Given the description of an element on the screen output the (x, y) to click on. 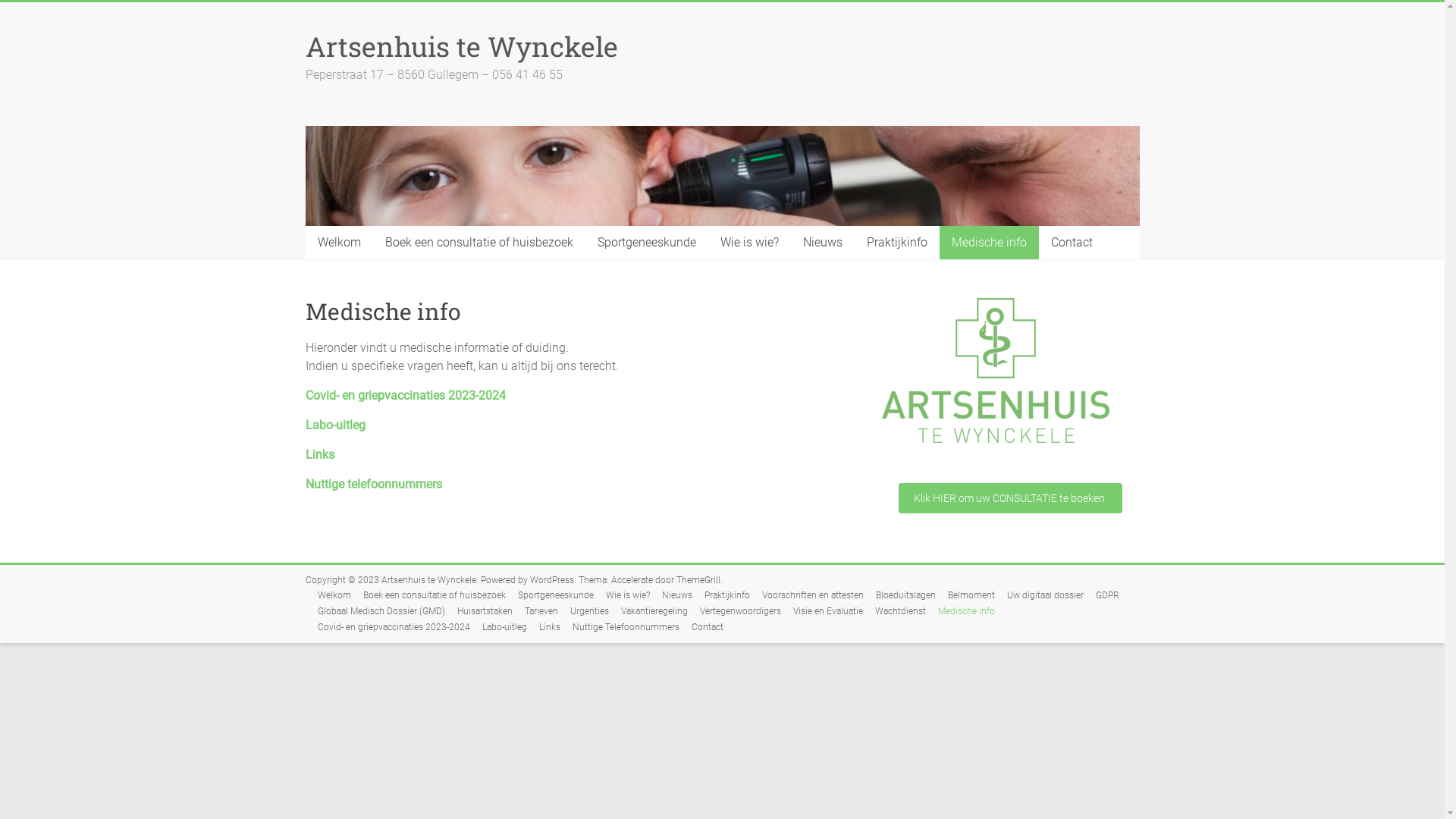
Nieuws Element type: text (821, 242)
Wachtdienst Element type: text (893, 611)
Klik HIER om uw CONSULTATIE te boeken. Element type: text (1010, 497)
Nuttige telefoonnummers Element type: text (372, 483)
WordPress Element type: text (551, 579)
Bloeduitslagen Element type: text (898, 595)
Boek een consultatie of huisbezoek Element type: text (479, 242)
Welkom Element type: text (327, 595)
Nieuws Element type: text (670, 595)
Welkom Element type: text (338, 242)
Wie is wie? Element type: text (749, 242)
Sportgeneeskunde Element type: text (646, 242)
ThemeGrill Element type: text (698, 579)
Artsenhuis te Wynckele Element type: text (427, 579)
Klik HIER om uw CONSULTATIE te boeken. Element type: text (1010, 498)
Urgenties Element type: text (583, 611)
Huisartstaken Element type: text (477, 611)
GDPR Element type: text (1100, 595)
Labo-uitleg Element type: text (334, 424)
Wie is wie? Element type: text (621, 595)
Vertegenwoordigers Element type: text (733, 611)
Contact Element type: text (1071, 242)
Medische info Element type: text (959, 611)
Links Element type: text (542, 627)
Globaal Medisch Dossier (GMD) Element type: text (374, 611)
Sportgeneeskunde Element type: text (549, 595)
Links Element type: text (318, 454)
Artsenhuis te Wynckele Element type: text (460, 46)
Uw digitaal dossier Element type: text (1038, 595)
Praktijkinfo Element type: text (720, 595)
Covid- en griepvaccinaties 2023-2024 Element type: text (386, 627)
Boek een consultatie of huisbezoek Element type: text (427, 595)
Medische info Element type: text (988, 242)
Covid- en griepvaccinaties 2023-2024 Element type: text (404, 395)
Contact Element type: text (701, 627)
Visie en Evaluatie Element type: text (821, 611)
Tarieven Element type: text (535, 611)
Praktijkinfo Element type: text (895, 242)
Labo-uitleg Element type: text (498, 627)
Voorschriften en attesten Element type: text (805, 595)
Belmoment Element type: text (964, 595)
Vakantieregeling Element type: text (647, 611)
Nuttige Telefoonnummers Element type: text (618, 627)
